Given the description of an element on the screen output the (x, y) to click on. 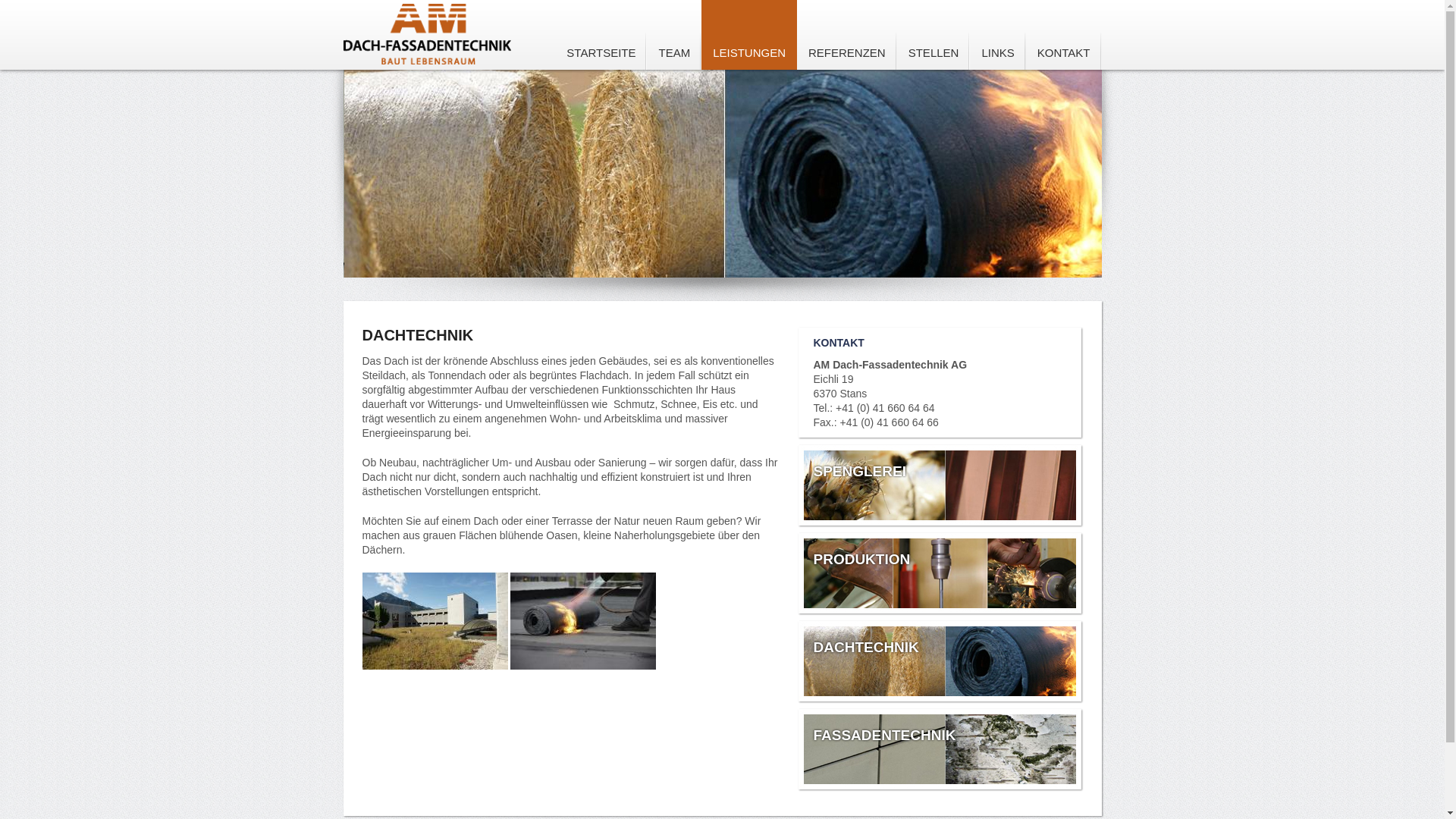
FASSADENTECHNIK Element type: text (893, 735)
STELLEN Element type: text (933, 34)
KONTAKT Element type: text (1063, 34)
AM-Dachfassadentechnik Element type: hover (426, 32)
PRODUKTION Element type: text (870, 559)
REFERENZEN Element type: text (847, 34)
SPENGLEREI Element type: text (868, 471)
LEISTUNGEN Element type: text (749, 34)
STARTSEITE Element type: text (600, 34)
LINKS Element type: text (997, 34)
TEAM Element type: text (673, 34)
DACHTECHNIK Element type: text (874, 647)
